Given the description of an element on the screen output the (x, y) to click on. 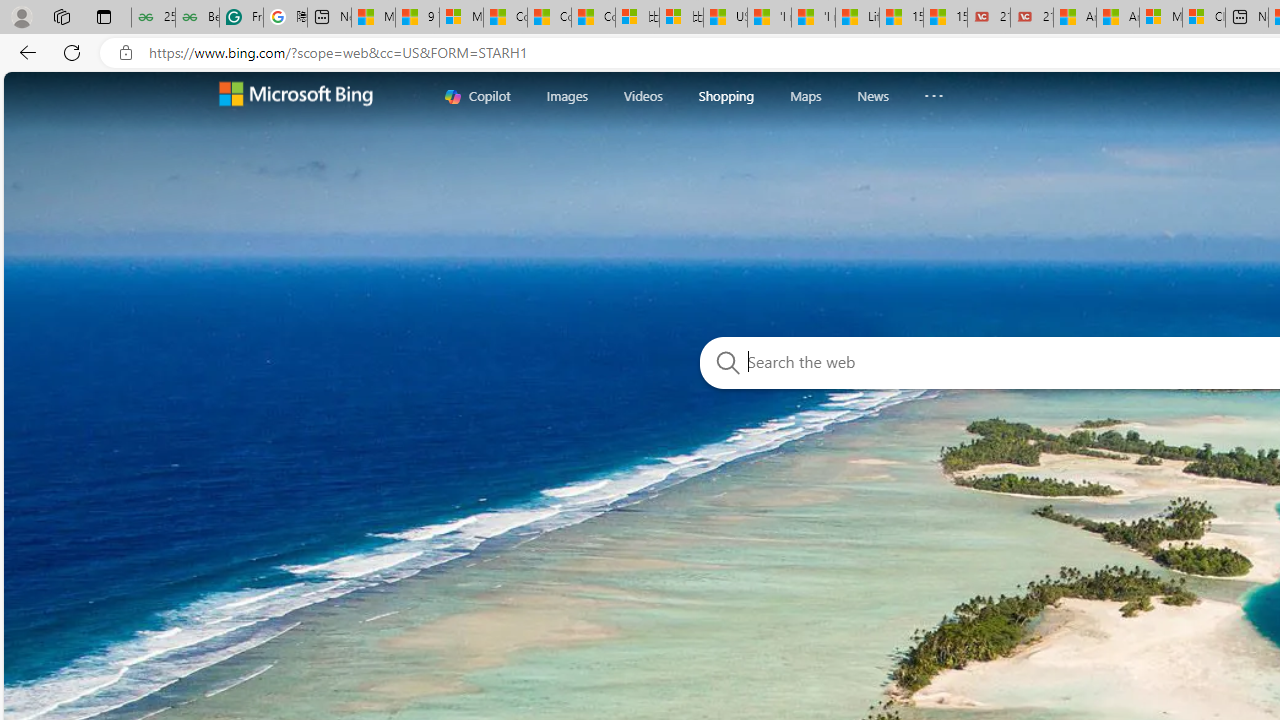
Copilot (477, 95)
Videos (643, 95)
Welcome to Bing Search (296, 96)
Class: scopes  (712, 95)
Images (566, 95)
Free AI Writing Assistance for Students | Grammarly (241, 17)
15 Ways Modern Life Contradicts the Teachings of Jesus (945, 17)
USA TODAY - MSN (725, 17)
Maps (805, 95)
